Given the description of an element on the screen output the (x, y) to click on. 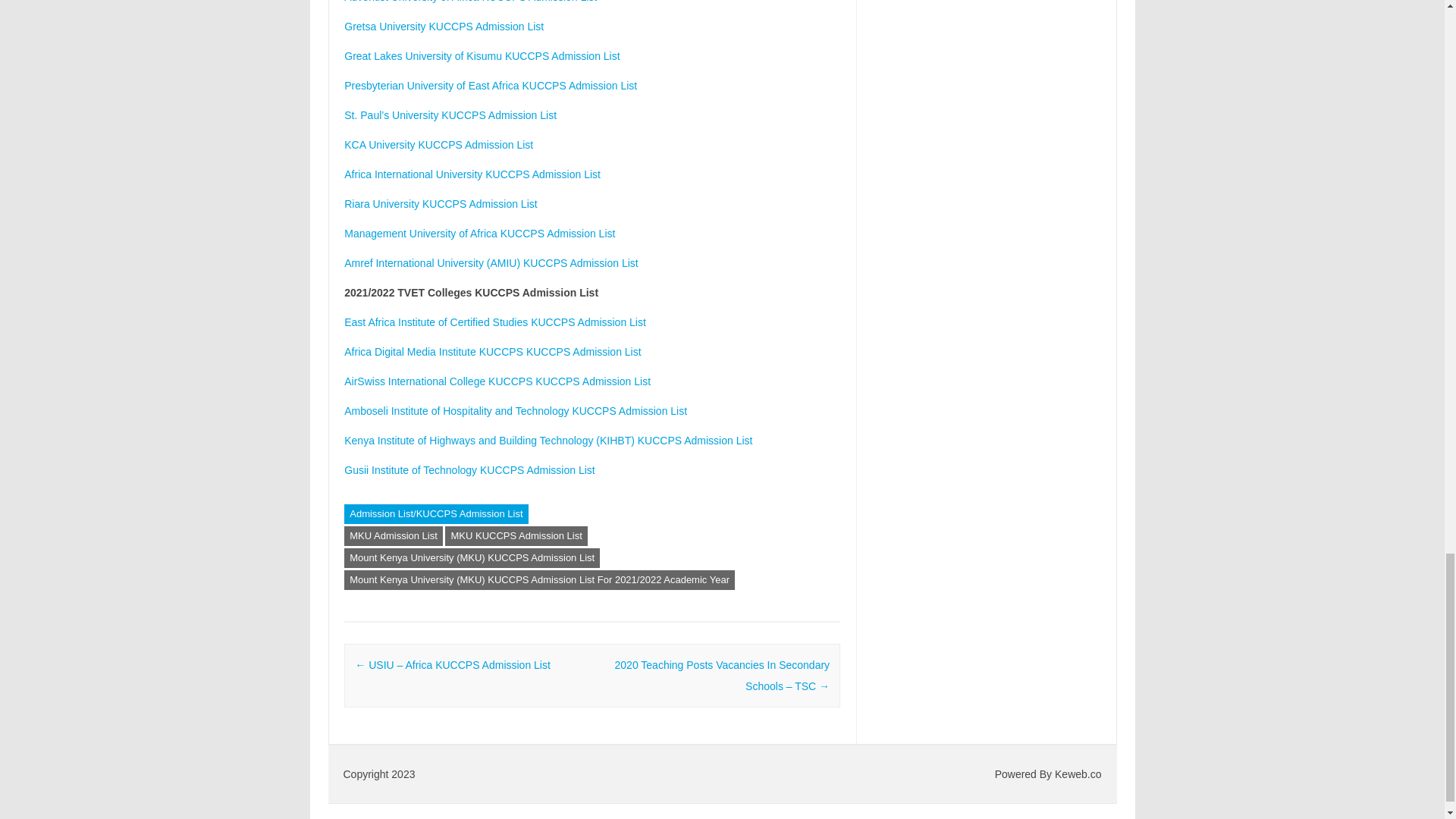
Presbyterian University of East Africa KUCCPS Admission List (490, 85)
Great Lakes University of Kisumu KUCCPS Admission List (481, 55)
Riara University KUCCPS Admission List (440, 203)
Africa International University KUCCPS Admission List (471, 174)
Management University of Africa KUCCPS Admission List (478, 233)
Adventist University of Africa KUCCPS Admission List (469, 1)
Gretsa University KUCCPS Admission List (443, 26)
KCA University KUCCPS Admission List (437, 144)
